Given the description of an element on the screen output the (x, y) to click on. 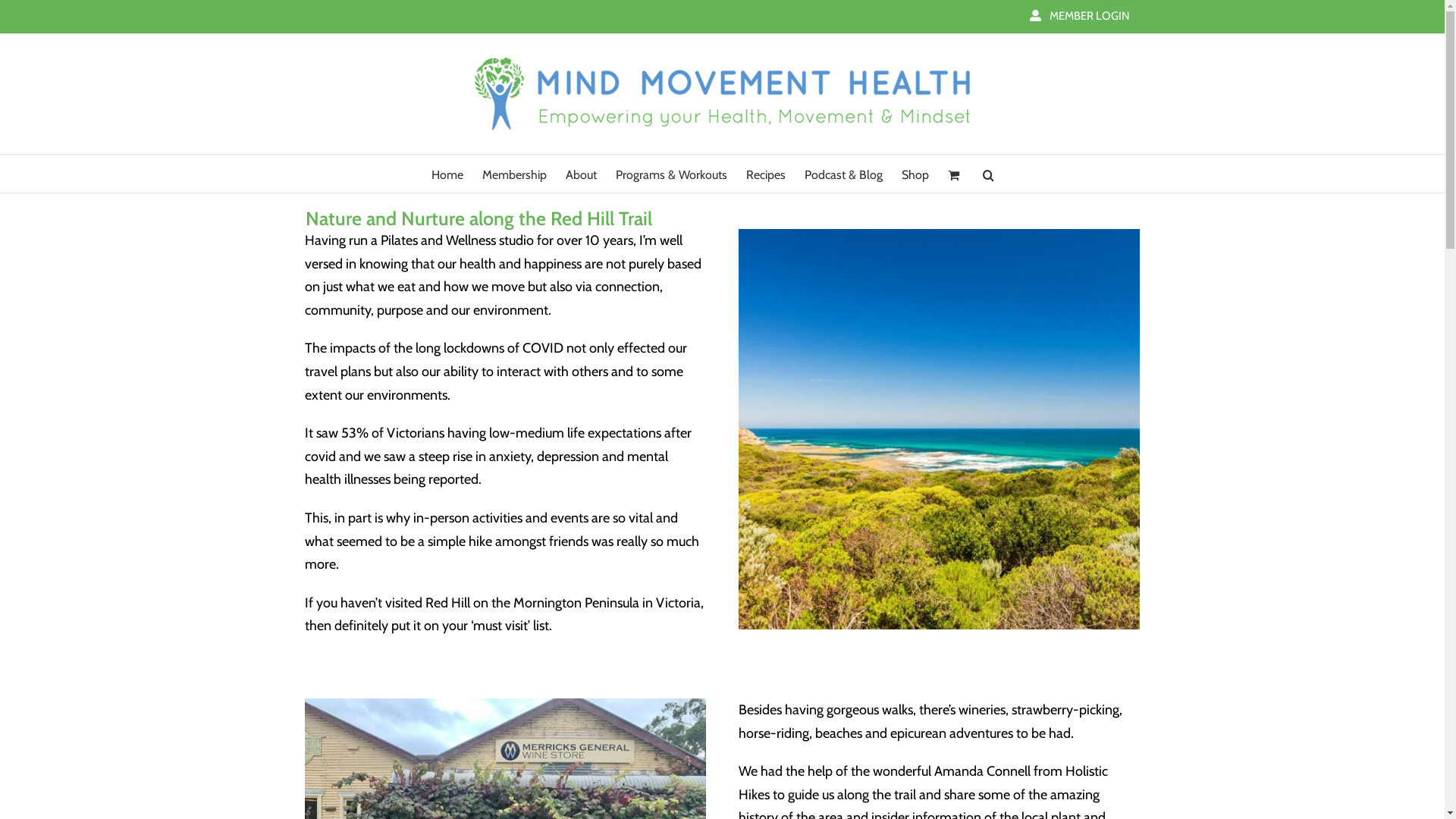
About Element type: text (580, 173)
Programs & Workouts Element type: text (671, 173)
Podcast & Blog Element type: text (843, 173)
Recipes Element type: text (765, 173)
Membership Element type: text (514, 173)
Shop Element type: text (914, 173)
MEMBER LOGIN Element type: text (1079, 16)
Home Element type: text (447, 173)
Search Element type: hover (988, 173)
Red Hill Element type: hover (938, 429)
